Given the description of an element on the screen output the (x, y) to click on. 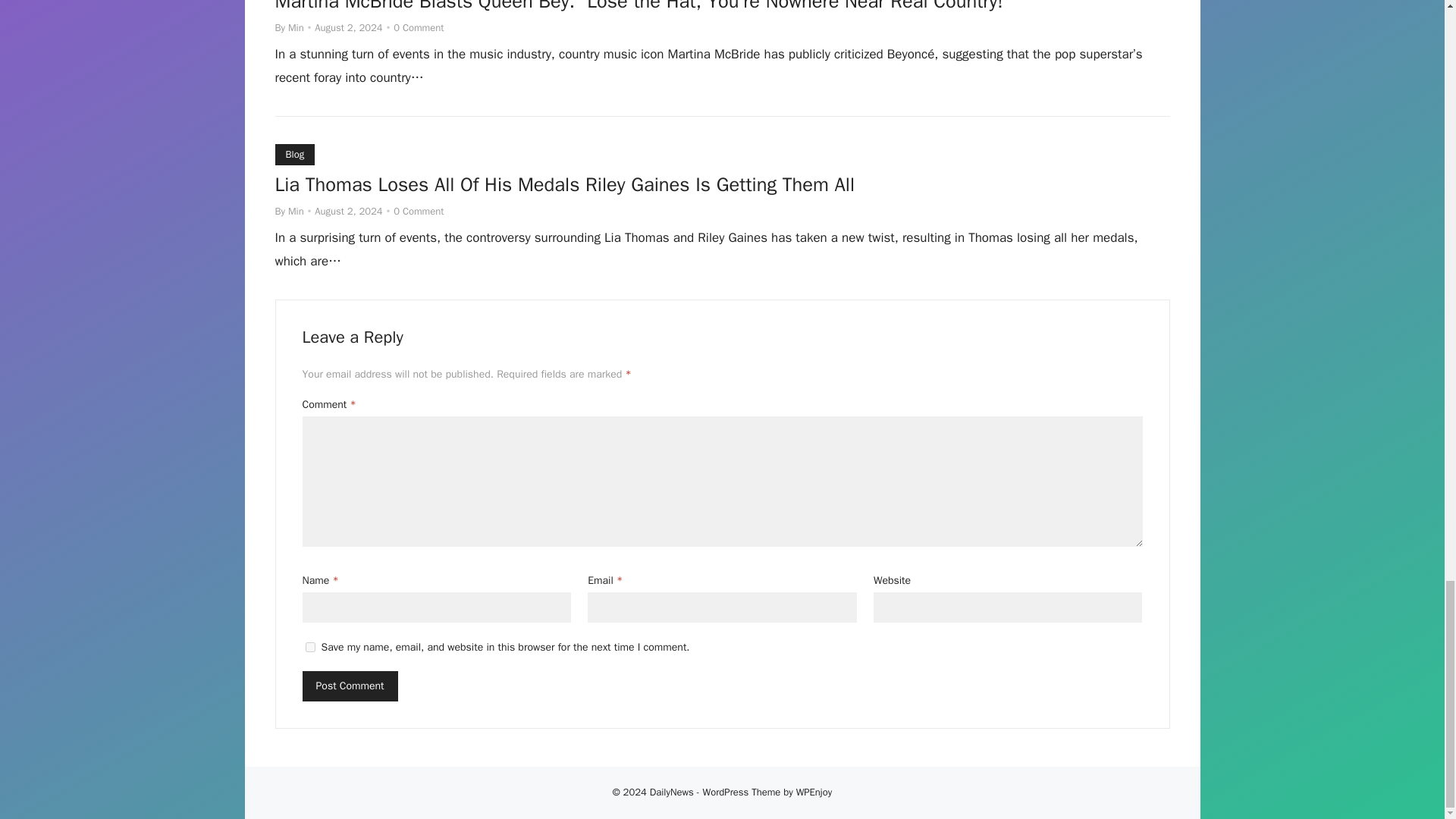
Blog (294, 154)
Post Comment (349, 685)
Post Comment (349, 685)
yes (309, 646)
Min (296, 210)
Posts by Min (296, 27)
Min (296, 27)
0 Comment (418, 210)
0 Comment (418, 27)
Posts by Min (296, 210)
